Given the description of an element on the screen output the (x, y) to click on. 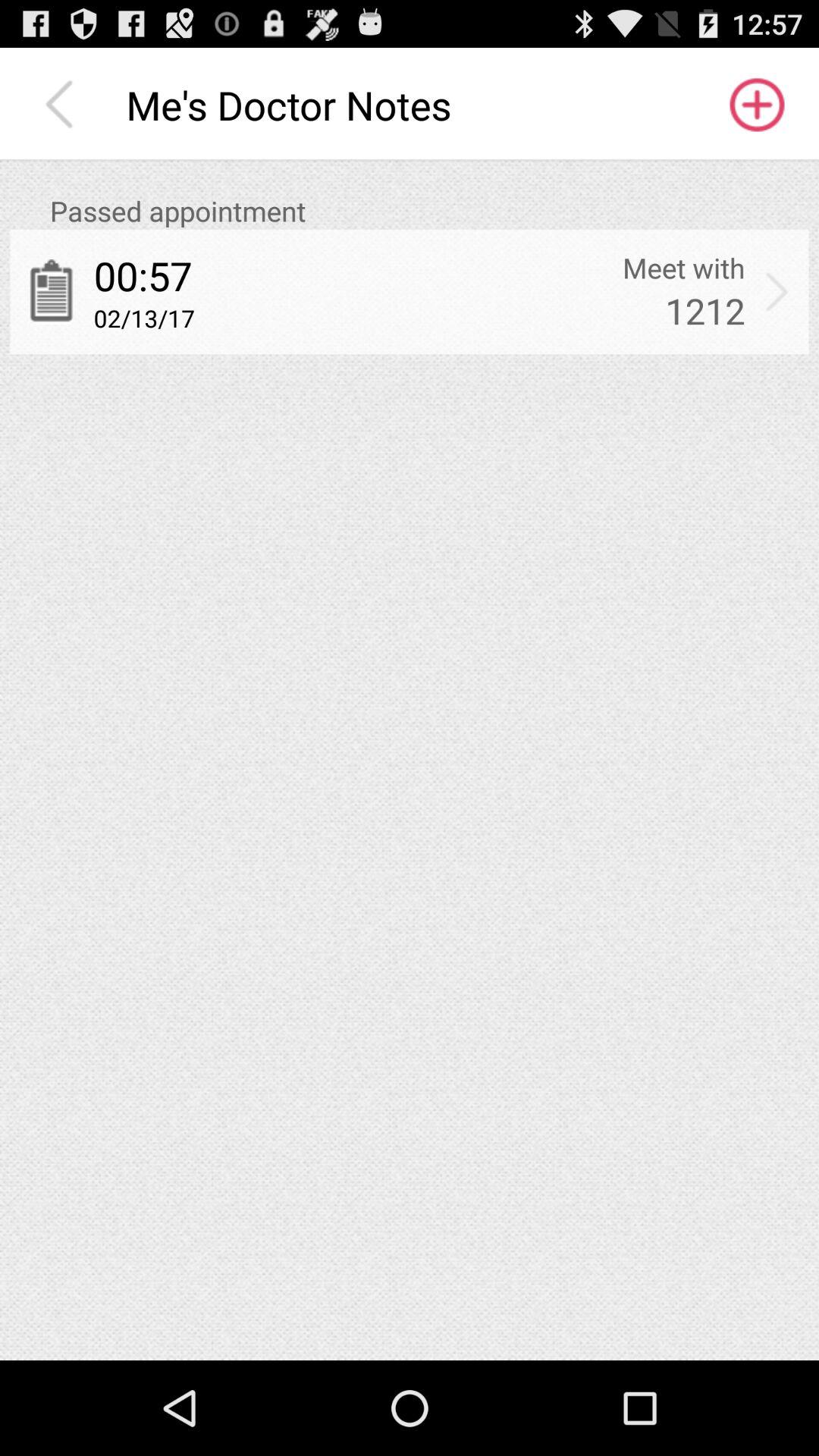
press icon above the 00:57 icon (429, 210)
